Given the description of an element on the screen output the (x, y) to click on. 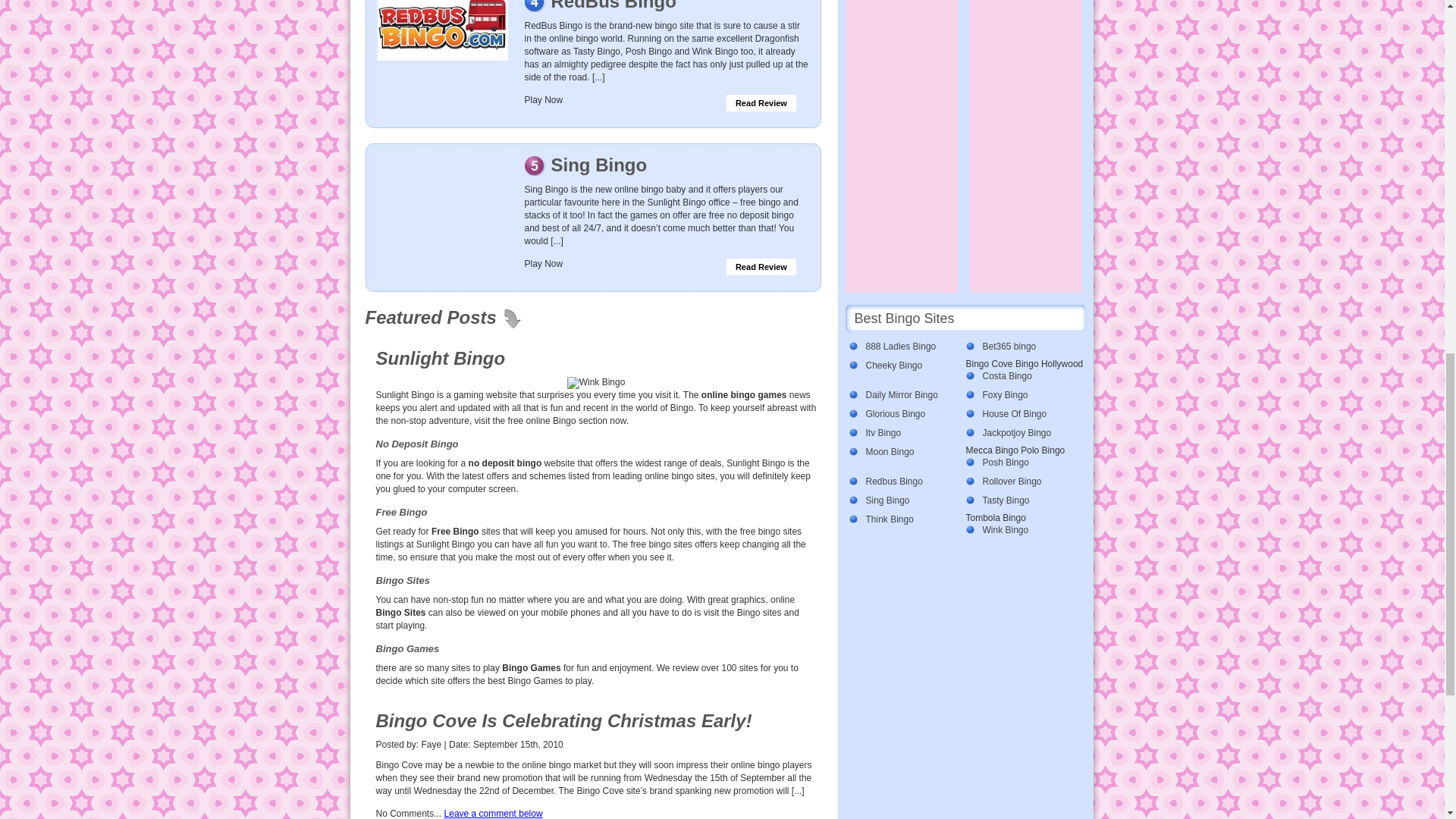
Leave a comment below (493, 813)
Bingo Cove Is Celebrating Christmas Early! (563, 720)
Glorious Bingo (902, 414)
Read Review (761, 103)
Permanent Link to Bingo Cove Is Celebrating Christmas Early! (563, 720)
Costa Bingo (1020, 376)
Comment on Bingo Cove Is Celebrating Christmas Early! (493, 813)
Posh Bingo (1020, 462)
Itv Bingo (902, 432)
Cheeky Bingo (902, 365)
Jackpotjoy Bingo (1020, 432)
Foxy Bingo (1020, 395)
888 Ladies Bingo (902, 346)
Bet365 bingo (1020, 346)
House Of Bingo (1020, 414)
